Given the description of an element on the screen output the (x, y) to click on. 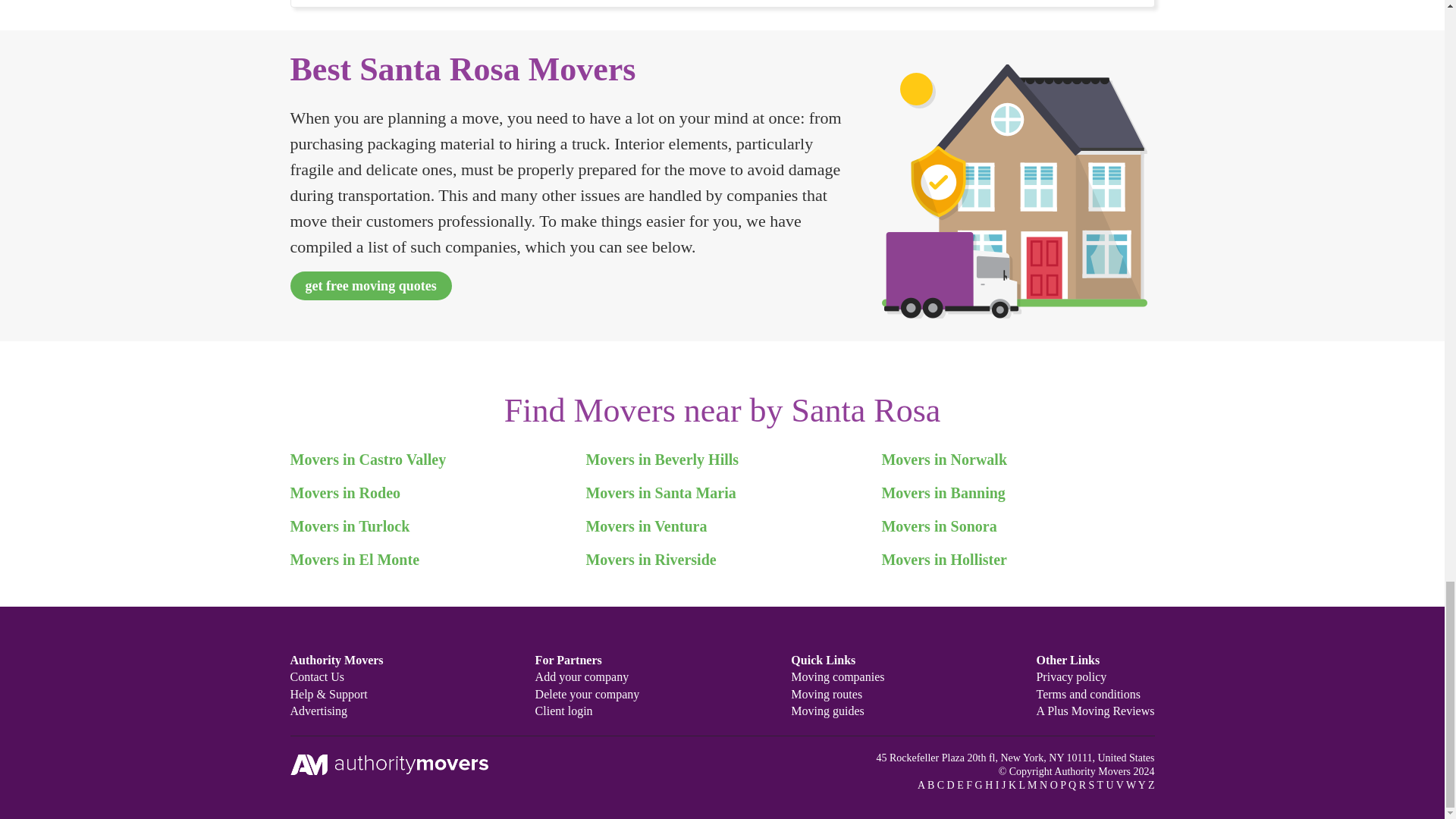
Add your company (581, 676)
Movers in Hollister (943, 559)
get free moving quotes (370, 285)
Privacy policy (1070, 676)
Movers in Turlock (349, 525)
Movers in Santa Maria (660, 492)
Client login (563, 710)
Movers in Castro Valley (367, 459)
Moving routes (825, 694)
Moving companies (836, 676)
